Given the description of an element on the screen output the (x, y) to click on. 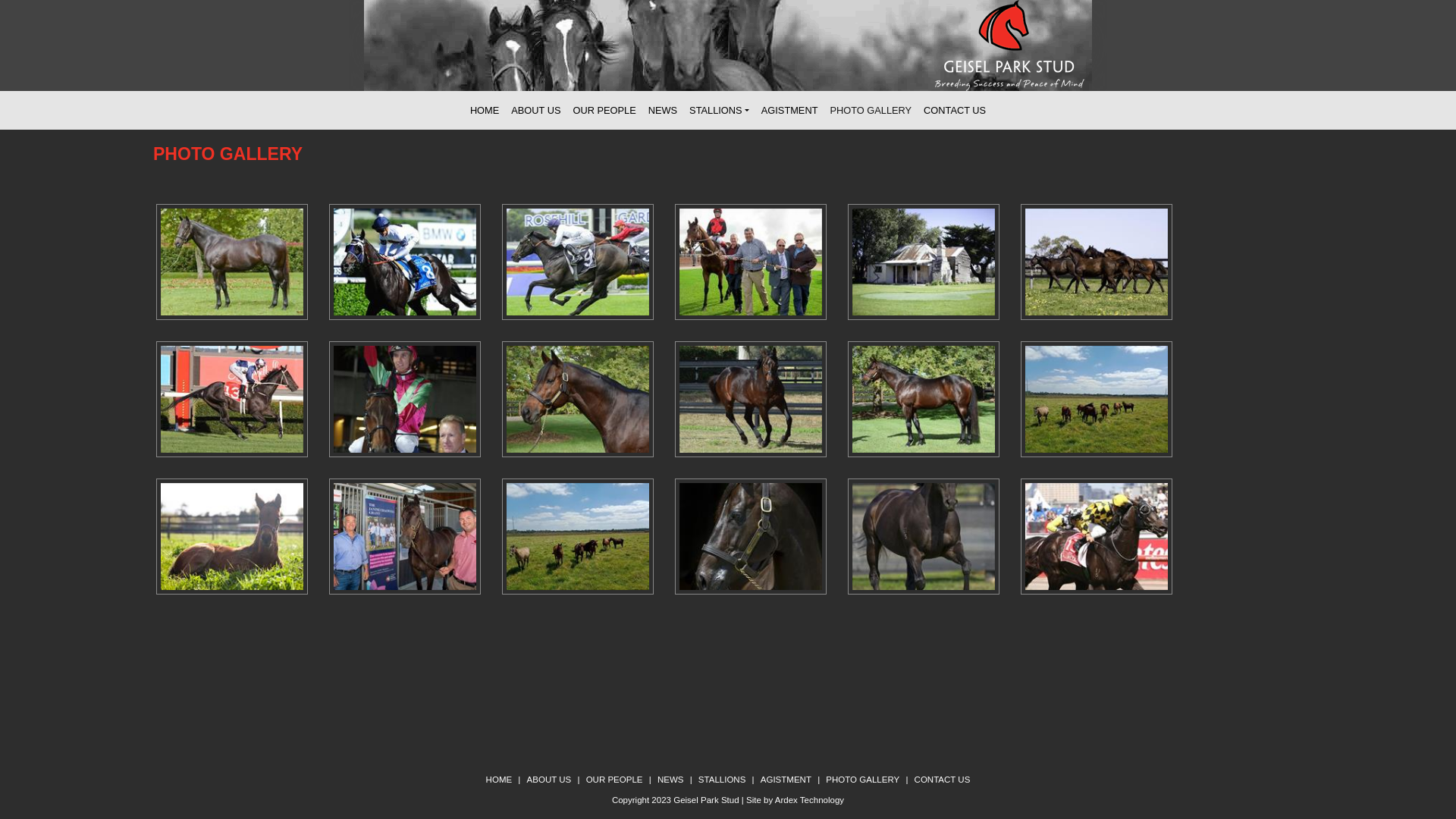
HOME Element type: text (499, 779)
HOME Element type: text (484, 110)
PHOTO GALLERY Element type: text (862, 779)
AGISTMENT Element type: text (785, 779)
OUR PEOPLE Element type: text (603, 110)
CONTACT US Element type: text (942, 779)
STALLIONS Element type: text (719, 110)
PHOTO GALLERY Element type: text (870, 110)
STALLIONS Element type: text (722, 779)
NEWS Element type: text (670, 779)
CONTACT US Element type: text (954, 110)
NEWS Element type: text (662, 110)
Ardex Technology Element type: text (809, 799)
AGISTMENT Element type: text (789, 110)
ABOUT US Element type: text (535, 110)
Geisel Park Stud Element type: text (705, 799)
ABOUT US Element type: text (549, 779)
OUR PEOPLE Element type: text (614, 779)
